Given the description of an element on the screen output the (x, y) to click on. 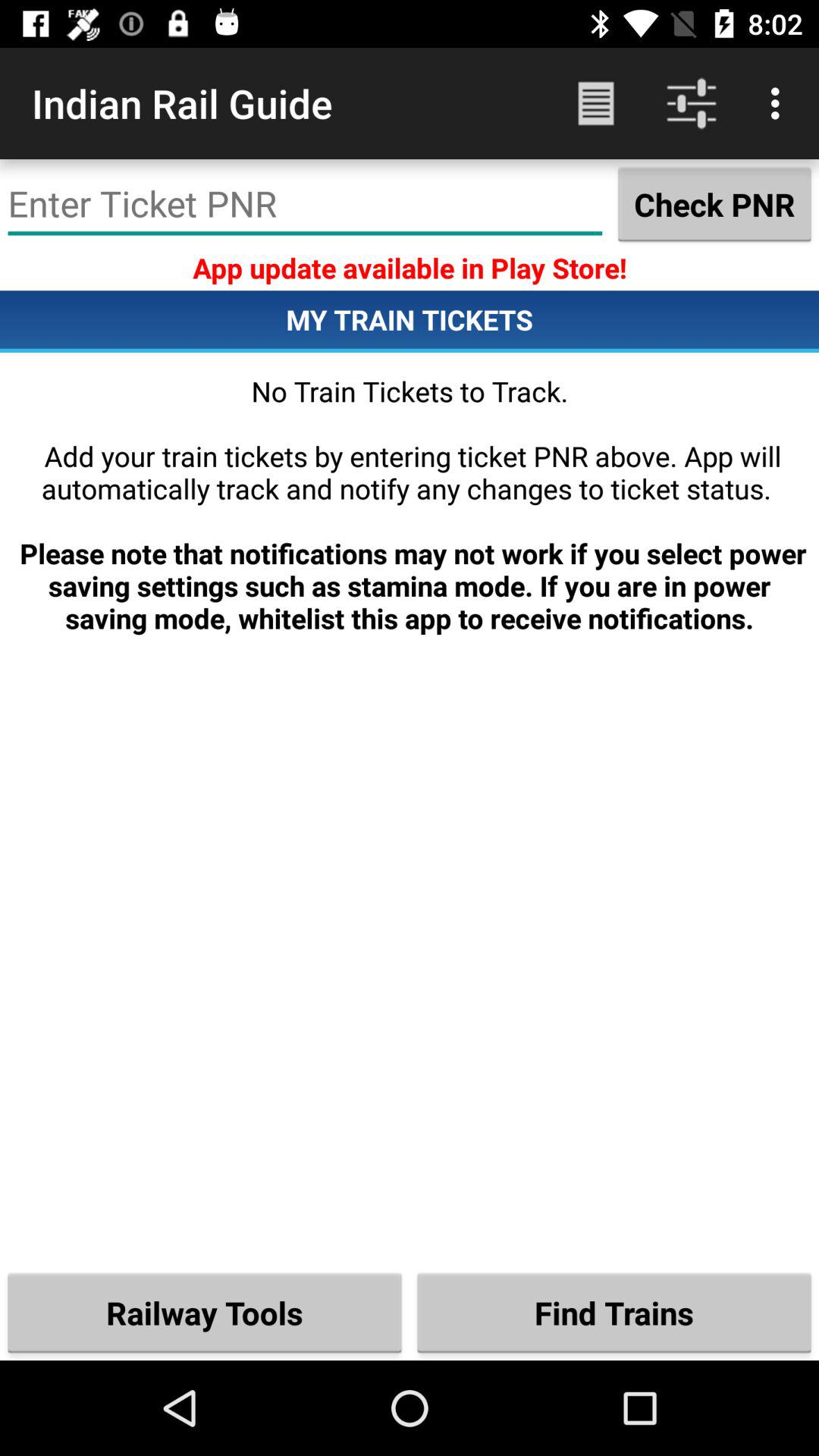
choose the icon to the left of find trains icon (204, 1312)
